Given the description of an element on the screen output the (x, y) to click on. 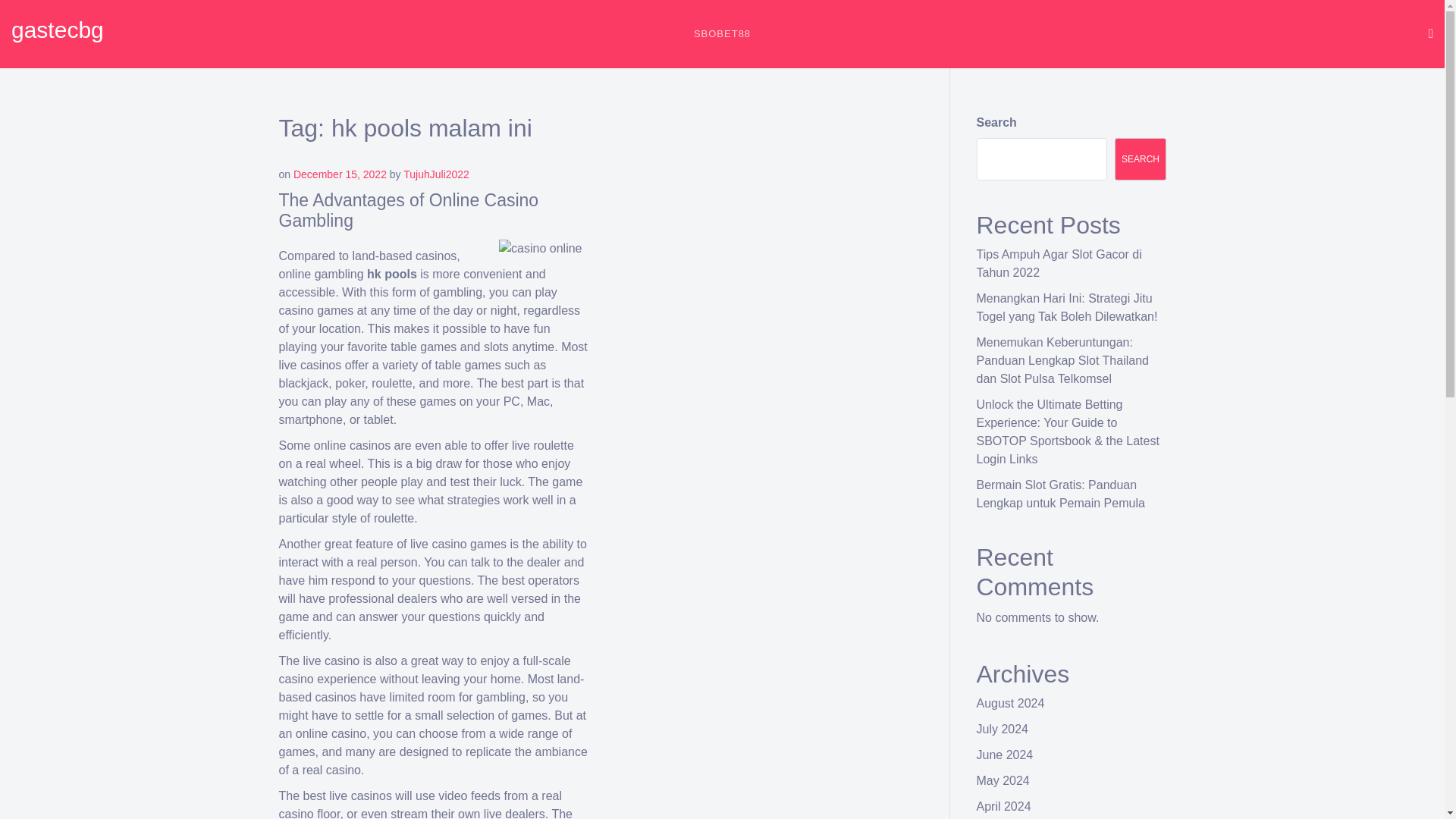
May 2024 (1002, 780)
gastecbg (57, 29)
TujuhJuli2022 (435, 174)
June 2024 (1004, 754)
Bermain Slot Gratis: Panduan Lengkap untuk Pemain Pemula (1060, 493)
April 2024 (1003, 806)
Tips Ampuh Agar Slot Gacor di Tahun 2022 (1058, 263)
August 2024 (1010, 703)
